Given the description of an element on the screen output the (x, y) to click on. 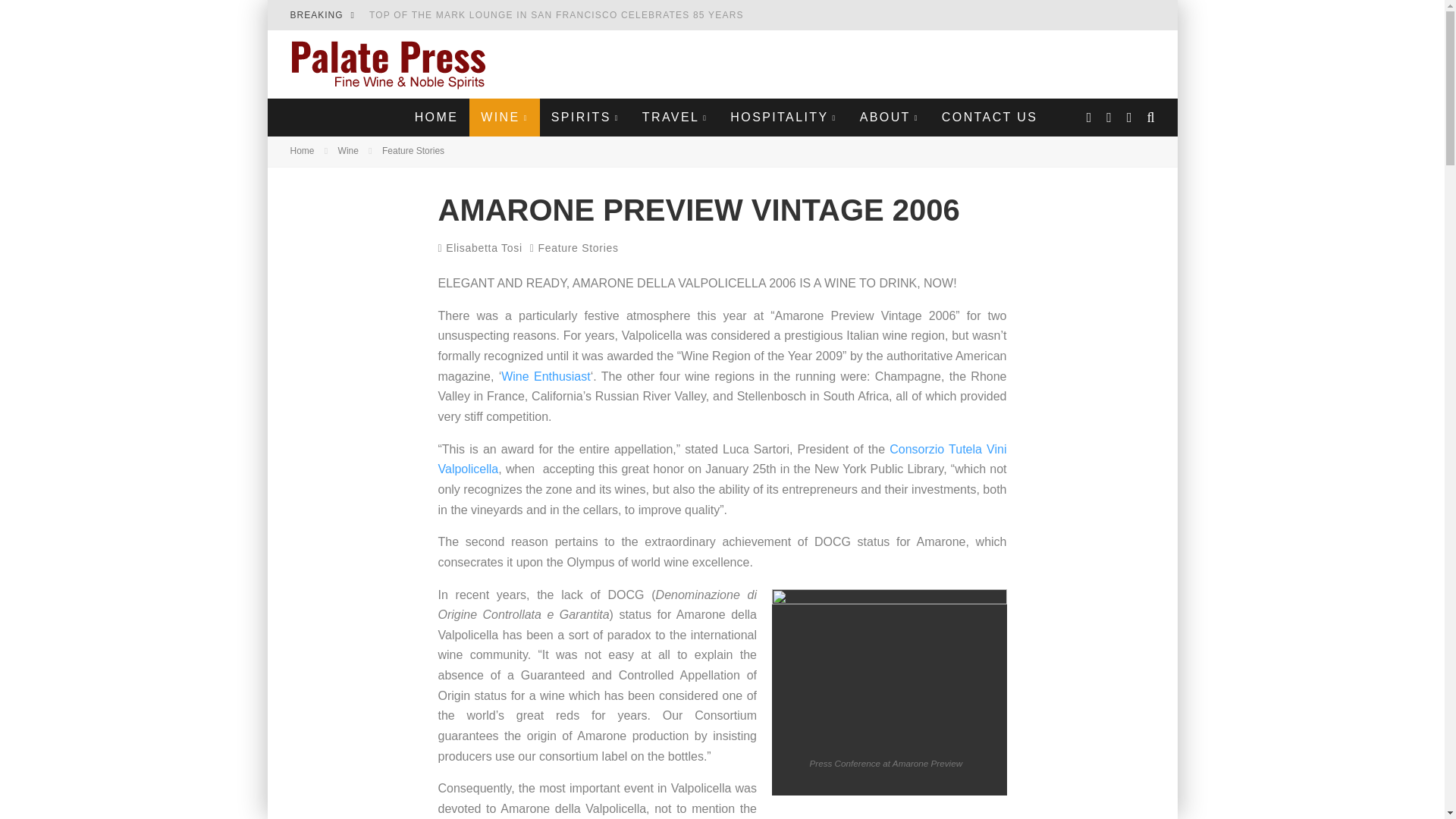
Top of the Mark Lounge in San Francisco Celebrates 85 years (556, 14)
SPIRITS (585, 117)
TOP OF THE MARK LOUNGE IN SAN FRANCISCO CELEBRATES 85 YEARS (556, 14)
HOME (436, 117)
WINE (503, 117)
Press conference Amarone Preview 2003 (889, 666)
